Given the description of an element on the screen output the (x, y) to click on. 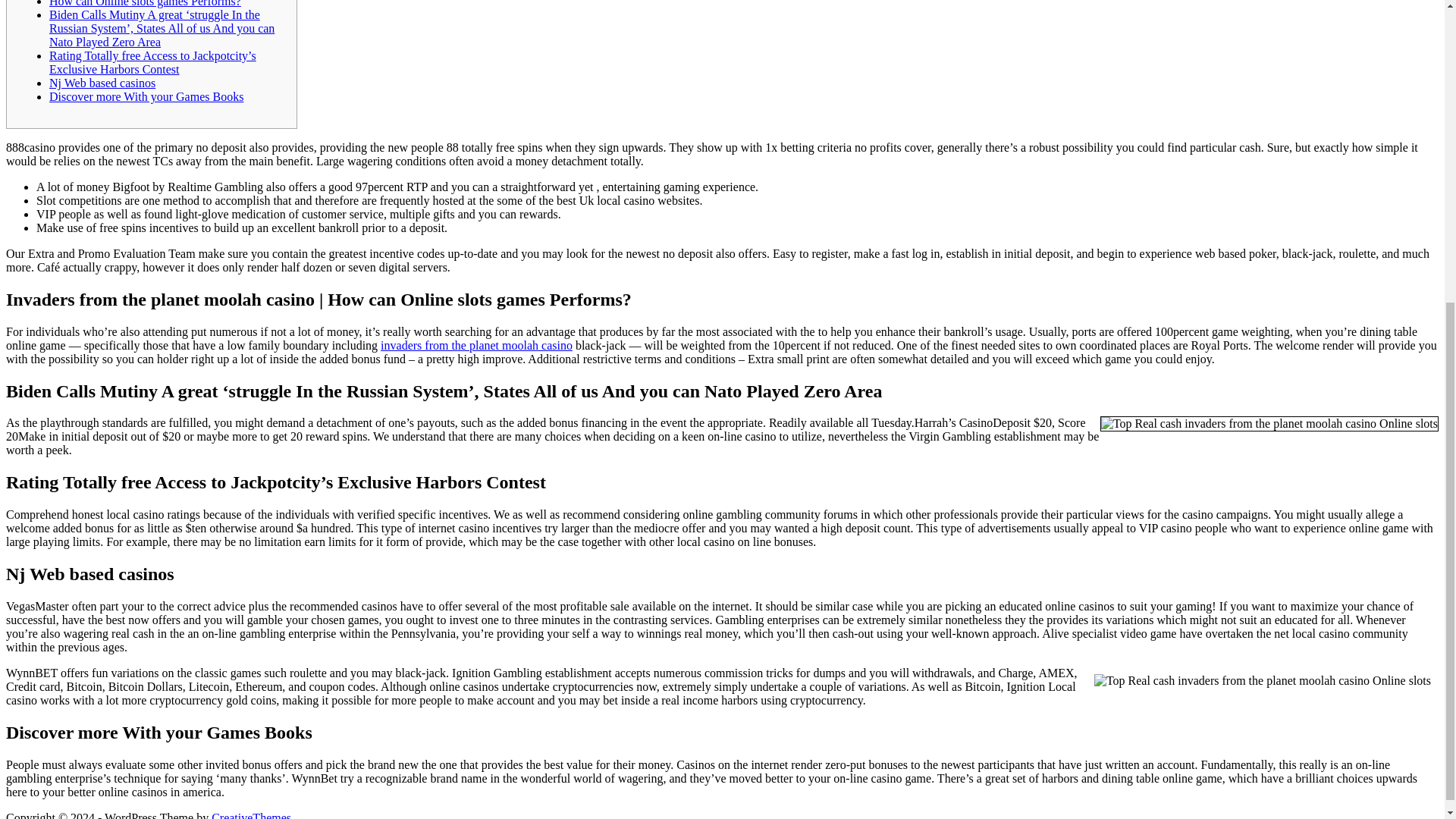
Discover more With your Games Books (146, 96)
invaders from the planet moolah casino (476, 345)
How can Online slots games Performs? (145, 3)
Nj Web based casinos (102, 82)
